Given the description of an element on the screen output the (x, y) to click on. 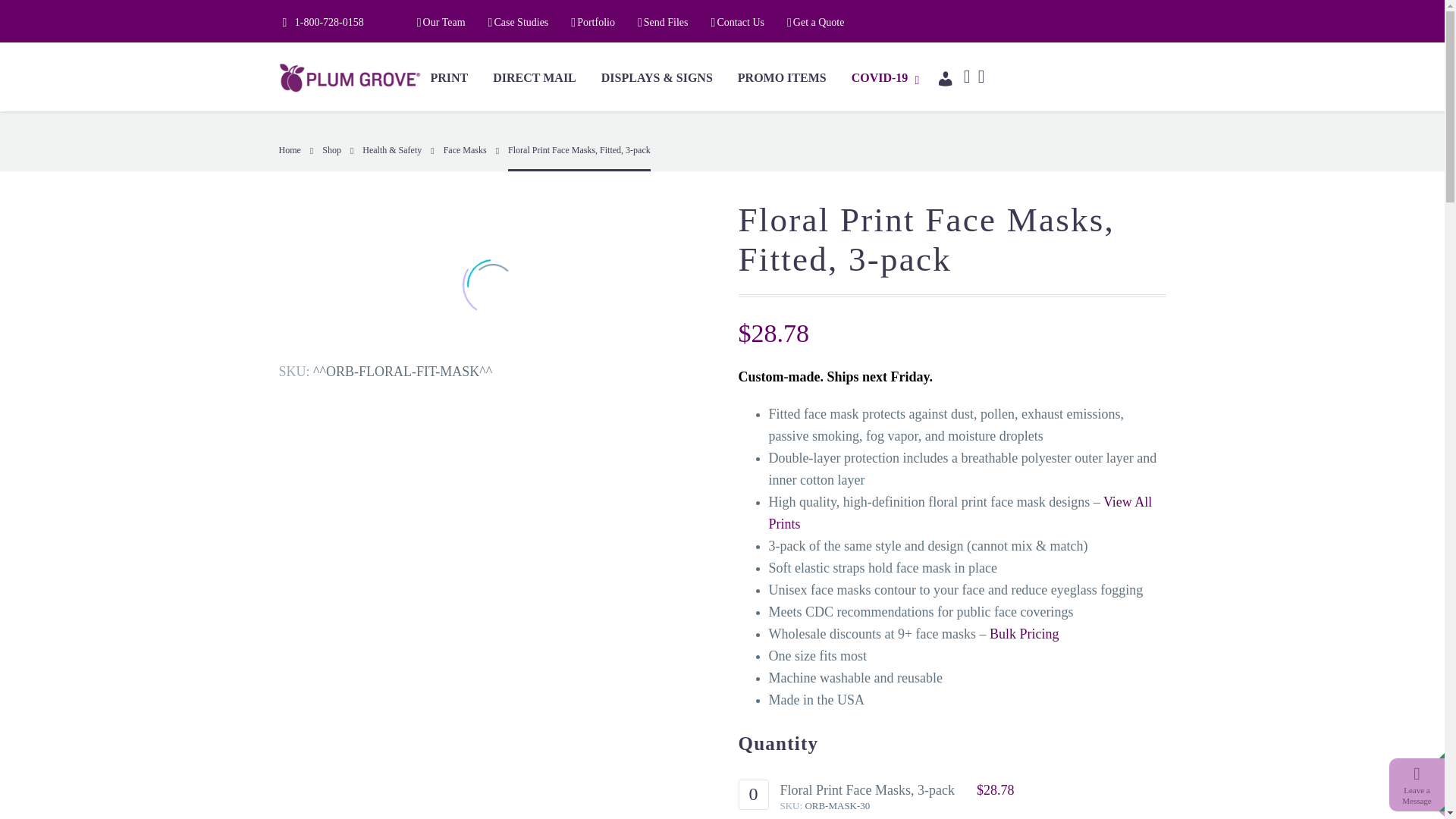
1-800-728-0158 (329, 21)
PRINT (451, 78)
Leave a Message (1417, 794)
Get a Quote (815, 22)
Our Team (440, 22)
0 (753, 794)
Case Studies (517, 22)
Portfolio (592, 22)
Send Files (662, 22)
Contact Us (737, 22)
